Given the description of an element on the screen output the (x, y) to click on. 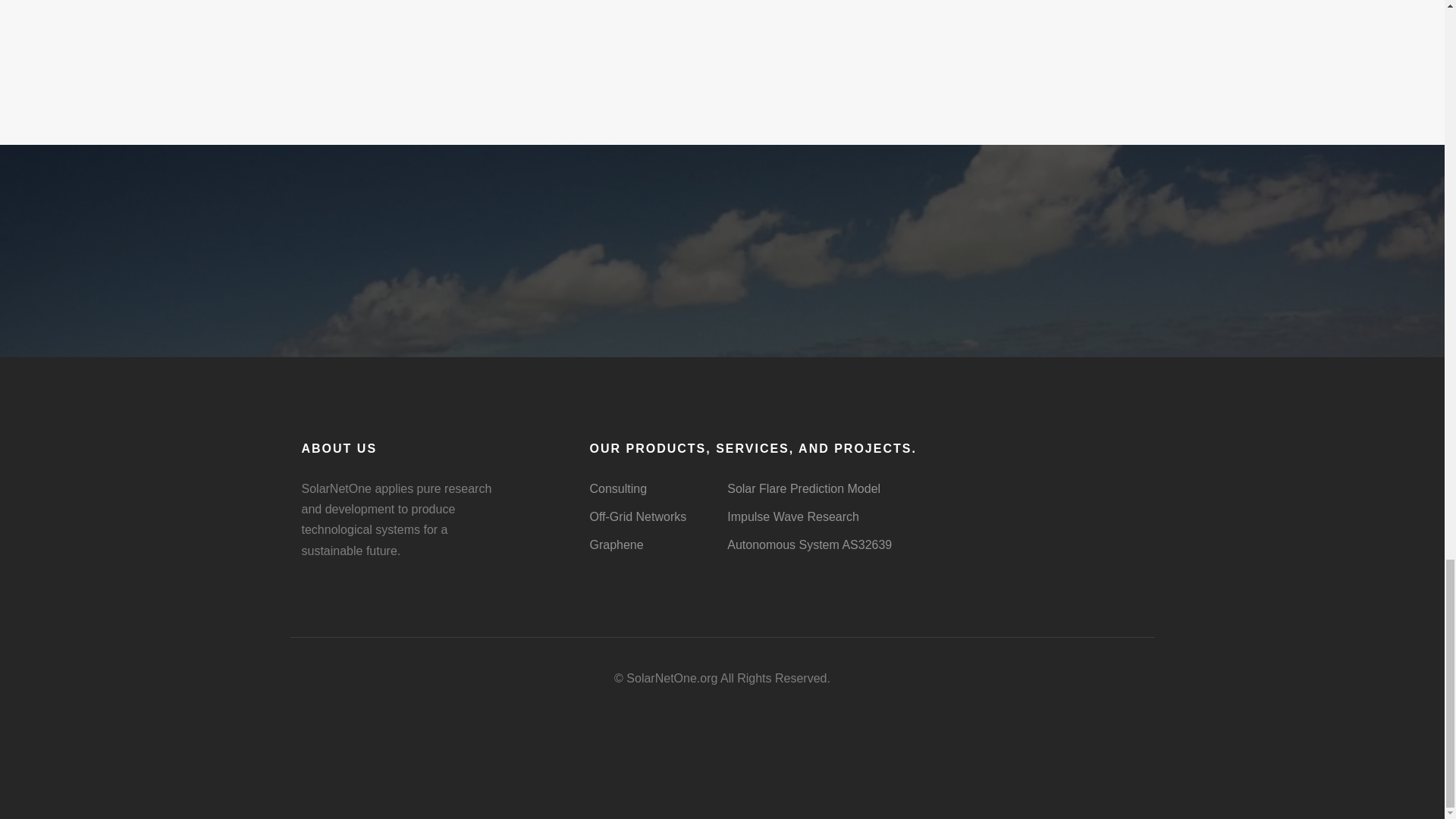
Solar Flare Prediction Model (803, 488)
Graphene (616, 544)
Off-Grid Networks (637, 516)
Consulting (617, 488)
Autonomous System AS32639 (808, 544)
Impulse Wave Research (792, 516)
